Given the description of an element on the screen output the (x, y) to click on. 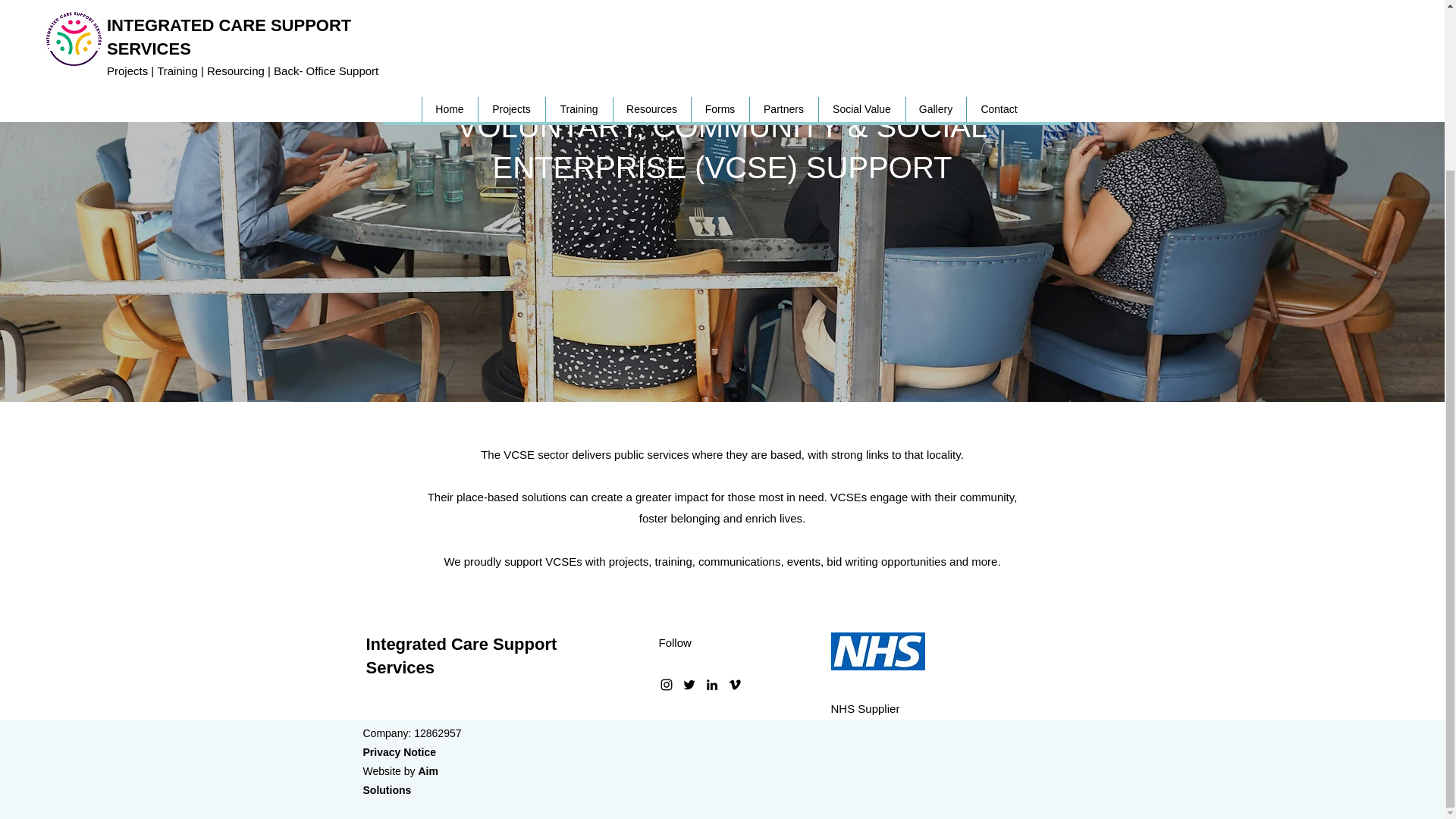
Aim Solutions (400, 780)
Integrated Care Support Services (460, 655)
Privacy Notice (398, 752)
